Given the description of an element on the screen output the (x, y) to click on. 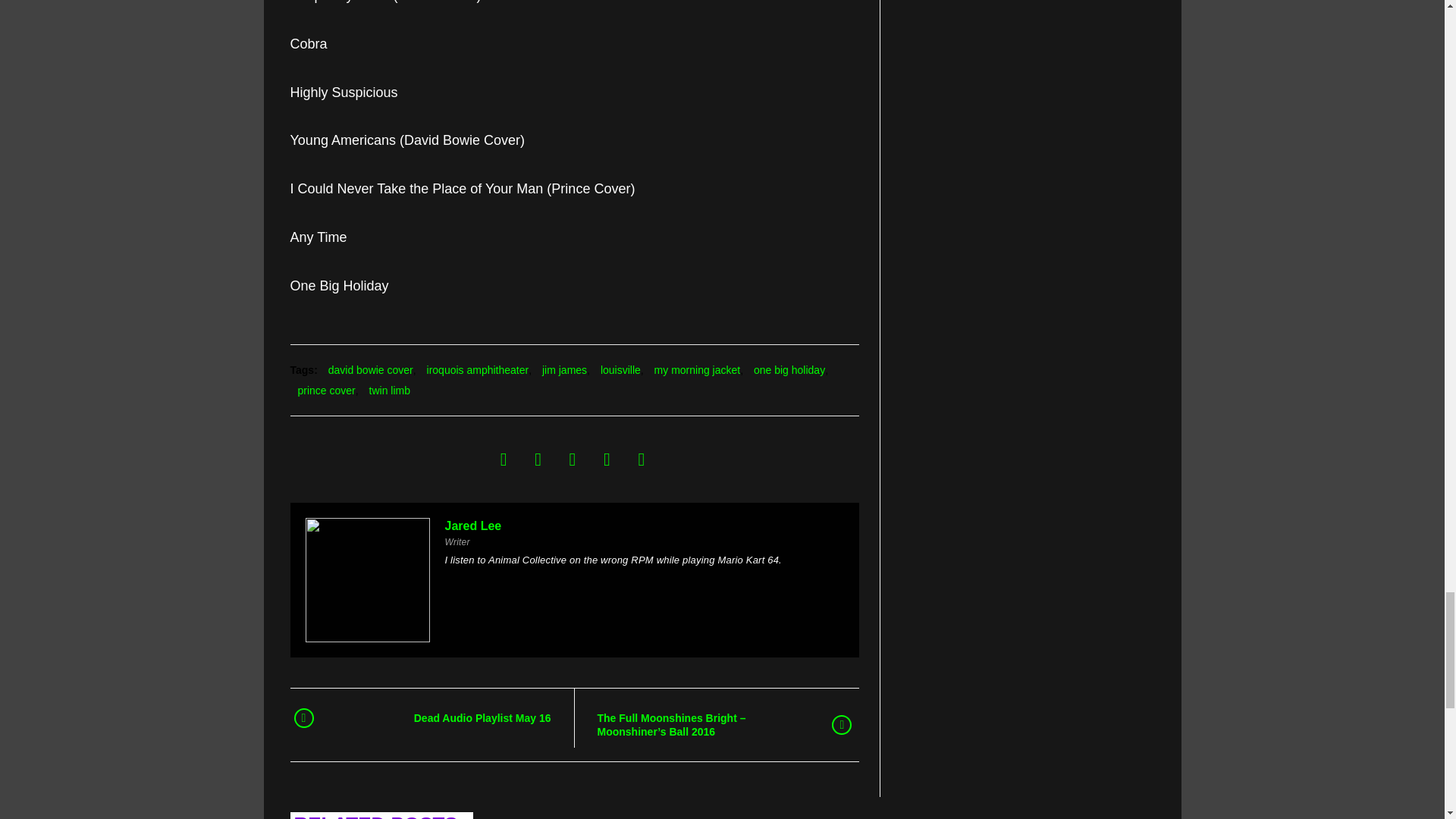
jim james (563, 370)
Dead Audio Playlist May 16 (442, 717)
prince cover (326, 390)
iroquois amphitheater (477, 370)
louisville (619, 370)
one big holiday (789, 370)
david bowie cover (371, 370)
my morning jacket (697, 370)
twin limb (389, 390)
Jared Lee (472, 525)
